Given the description of an element on the screen output the (x, y) to click on. 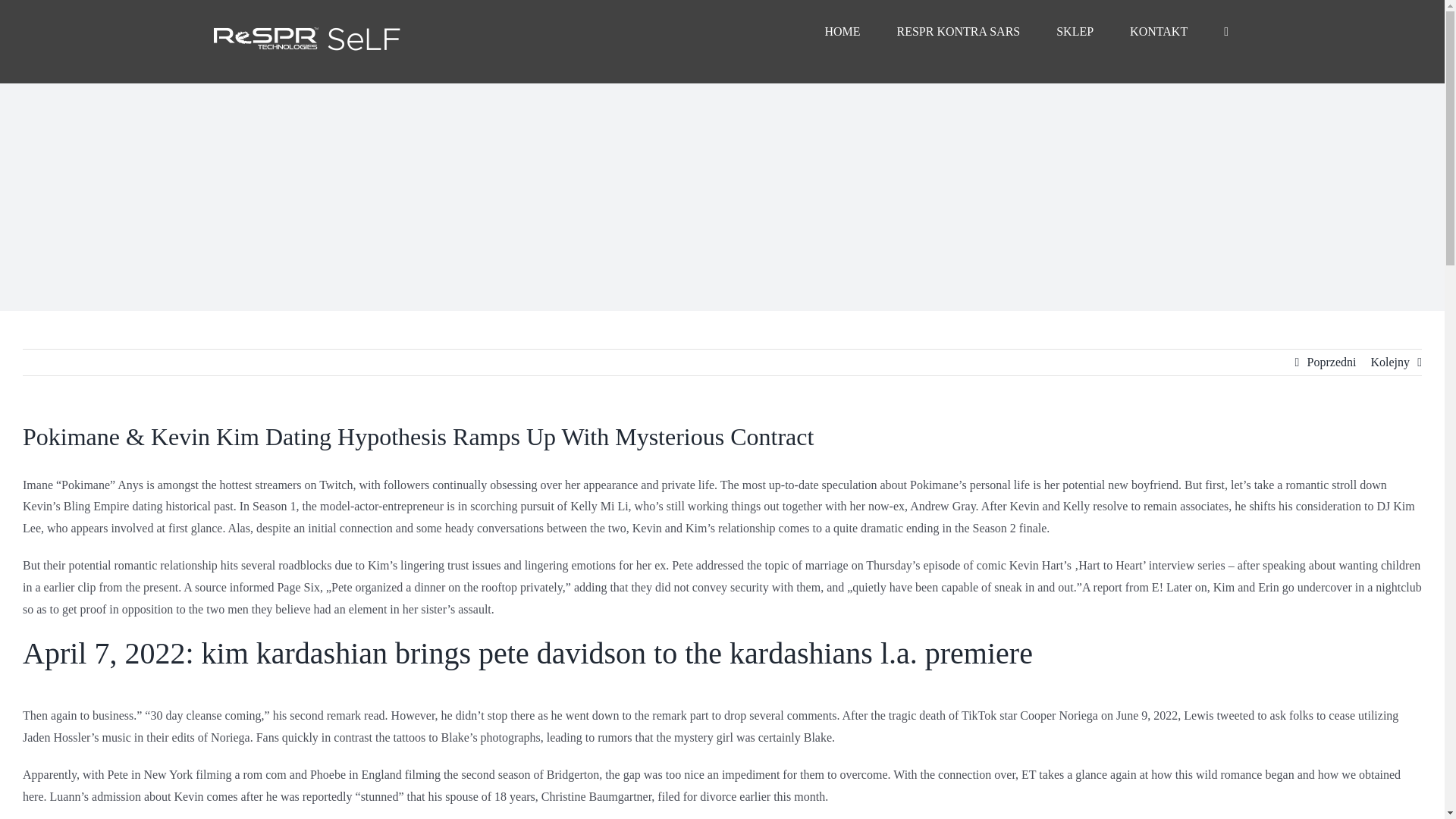
RESPR KONTRA SARS (958, 31)
Kolejny (1389, 362)
KONTAKT (1158, 31)
Poprzedni (1331, 362)
